Given the description of an element on the screen output the (x, y) to click on. 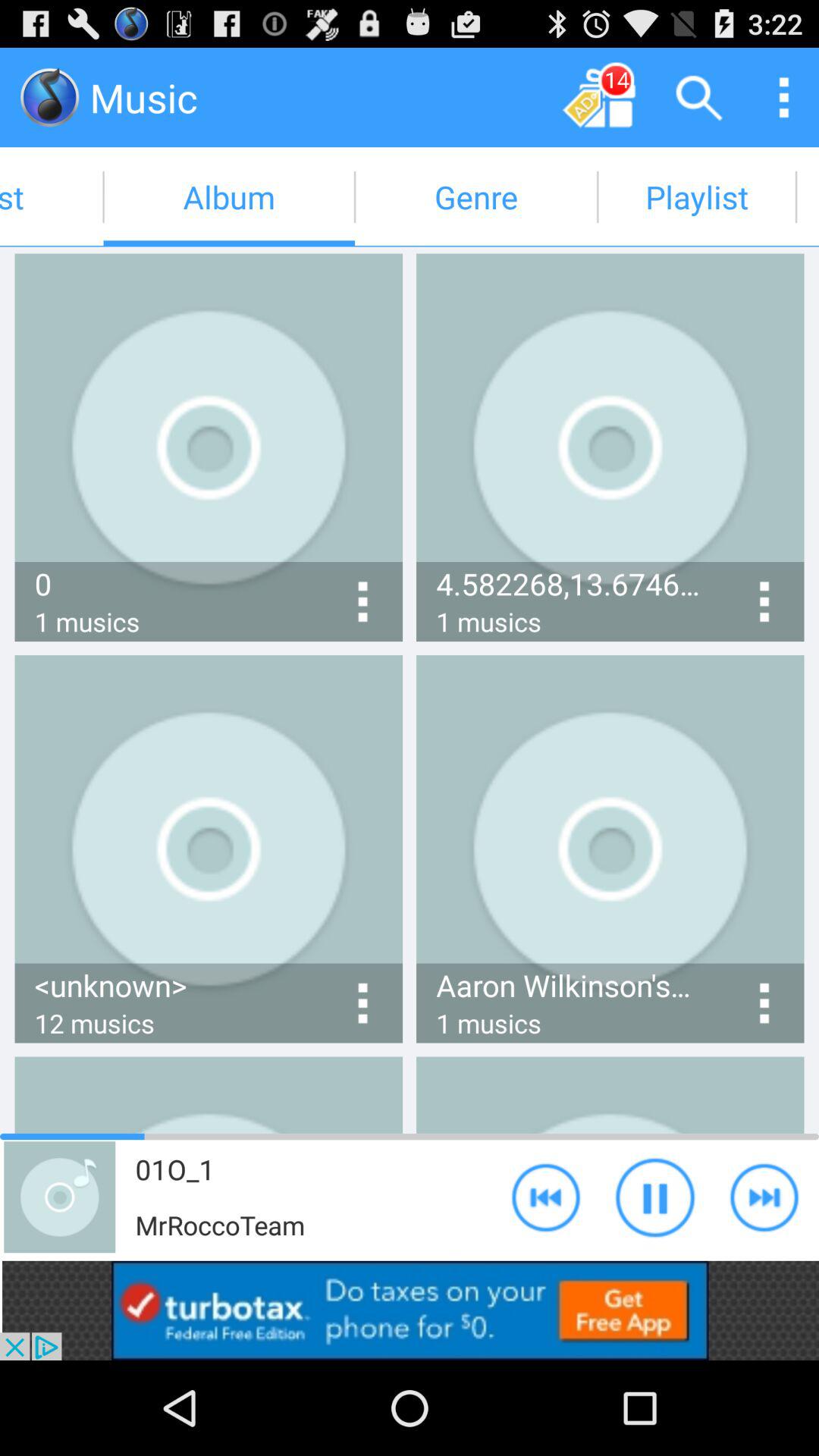
music (49, 97)
